Given the description of an element on the screen output the (x, y) to click on. 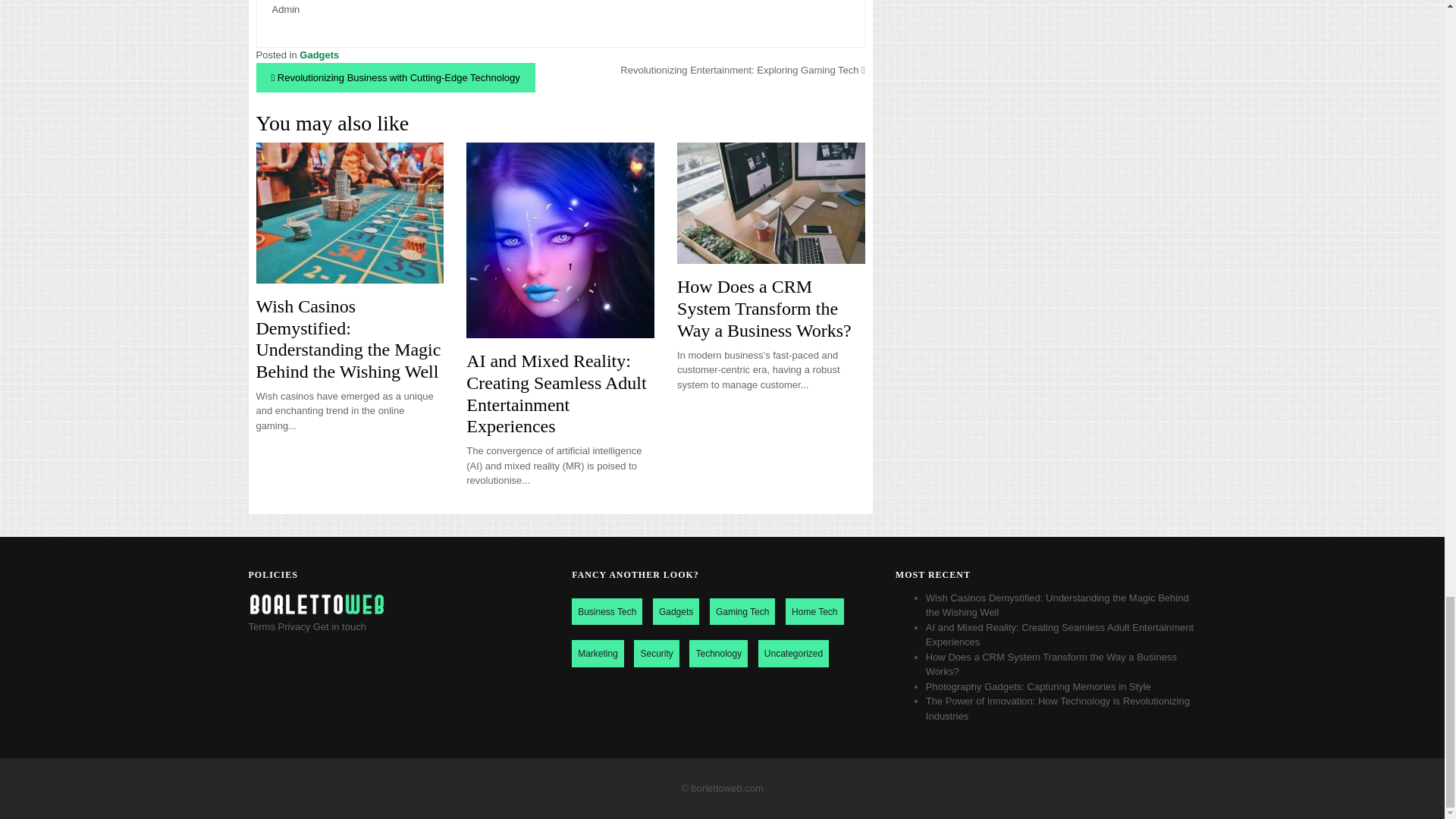
Gadgets (319, 54)
Revolutionizing Entertainment: Exploring Gaming Tech  (742, 70)
 Revolutionizing Business with Cutting-Edge Technology (394, 77)
